Given the description of an element on the screen output the (x, y) to click on. 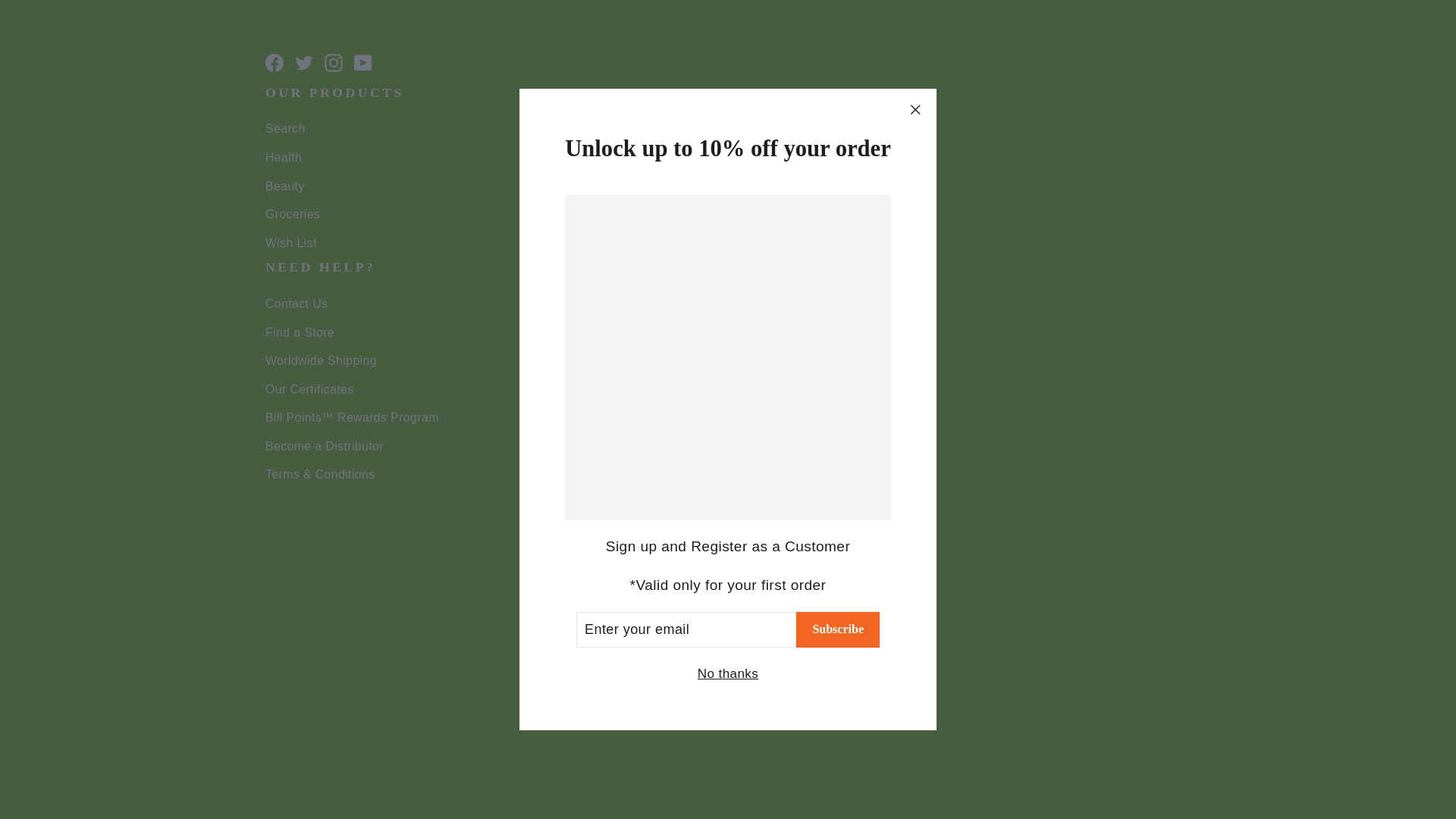
Mastercard (745, 736)
Apple Pay (675, 736)
Shop Pay (779, 736)
Visa (814, 736)
American Express (640, 736)
Google Pay (710, 736)
